Given the description of an element on the screen output the (x, y) to click on. 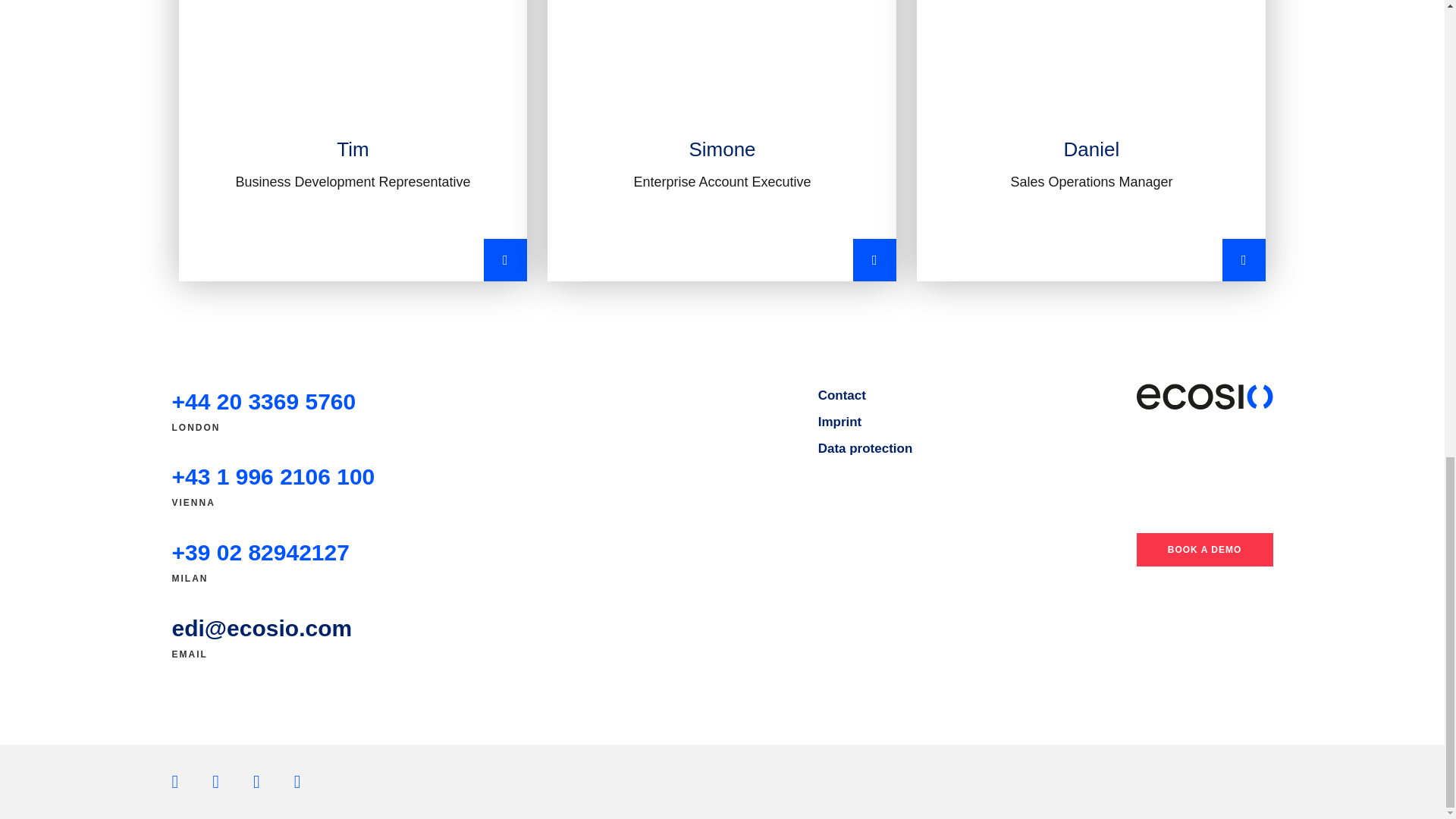
Tim (353, 140)
Simone (721, 140)
Ecosio VIENNA (272, 476)
Imprint (839, 422)
Data protection (865, 448)
Ecosio EMAIL (261, 628)
Contact (842, 395)
to the home page (1203, 396)
Ecosio LONDON (263, 401)
Ecosio MILAN (260, 552)
